Given the description of an element on the screen output the (x, y) to click on. 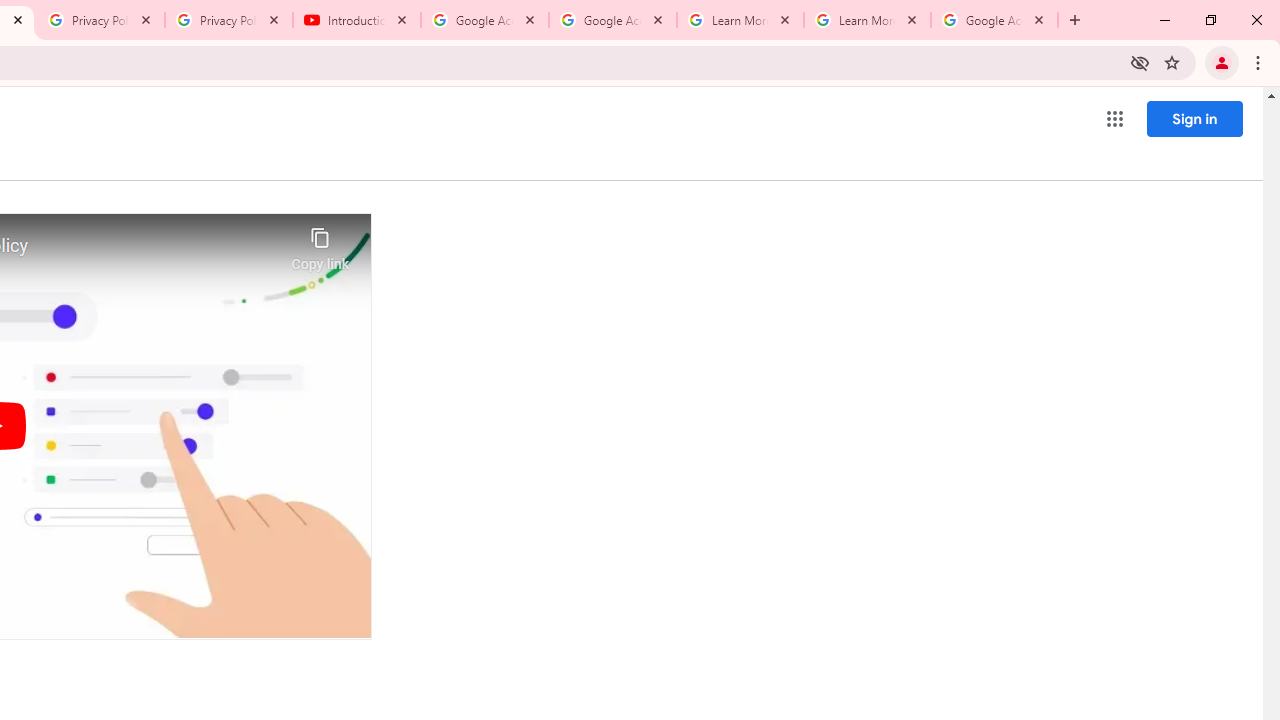
Google Account Help (613, 20)
Google Account (994, 20)
Third-party cookies blocked (1139, 62)
